Given the description of an element on the screen output the (x, y) to click on. 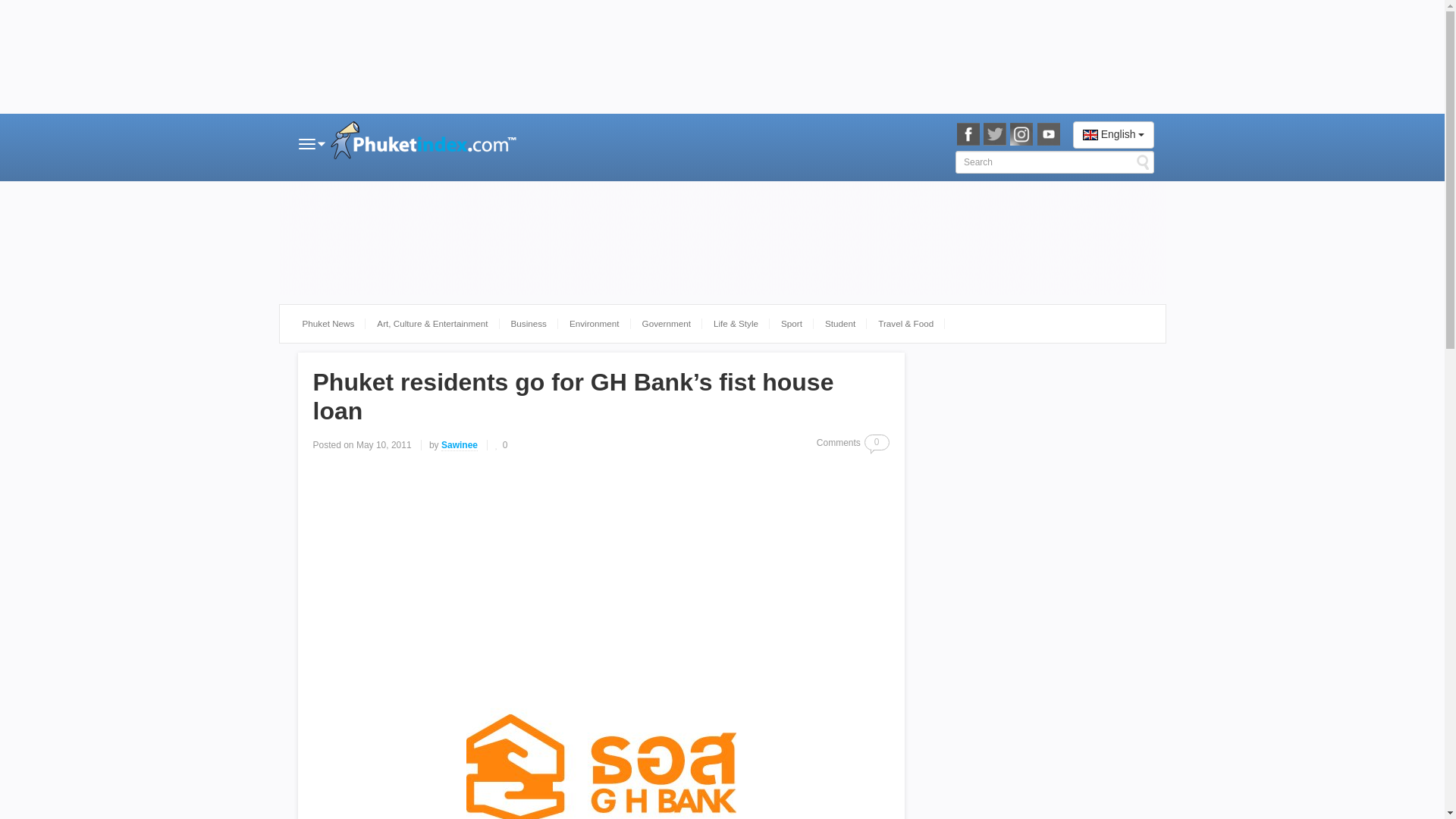
3rd party ad content (722, 56)
GH BANK (600, 757)
0 (500, 444)
3rd party ad content (1032, 651)
3rd party ad content (1032, 790)
Student (839, 323)
Environment (593, 323)
Government (665, 323)
Phuketindex.com (425, 142)
Phuket News (328, 323)
Sawinee (459, 445)
0 (876, 442)
Business (528, 323)
Advertisement (600, 574)
Like this (500, 444)
